Given the description of an element on the screen output the (x, y) to click on. 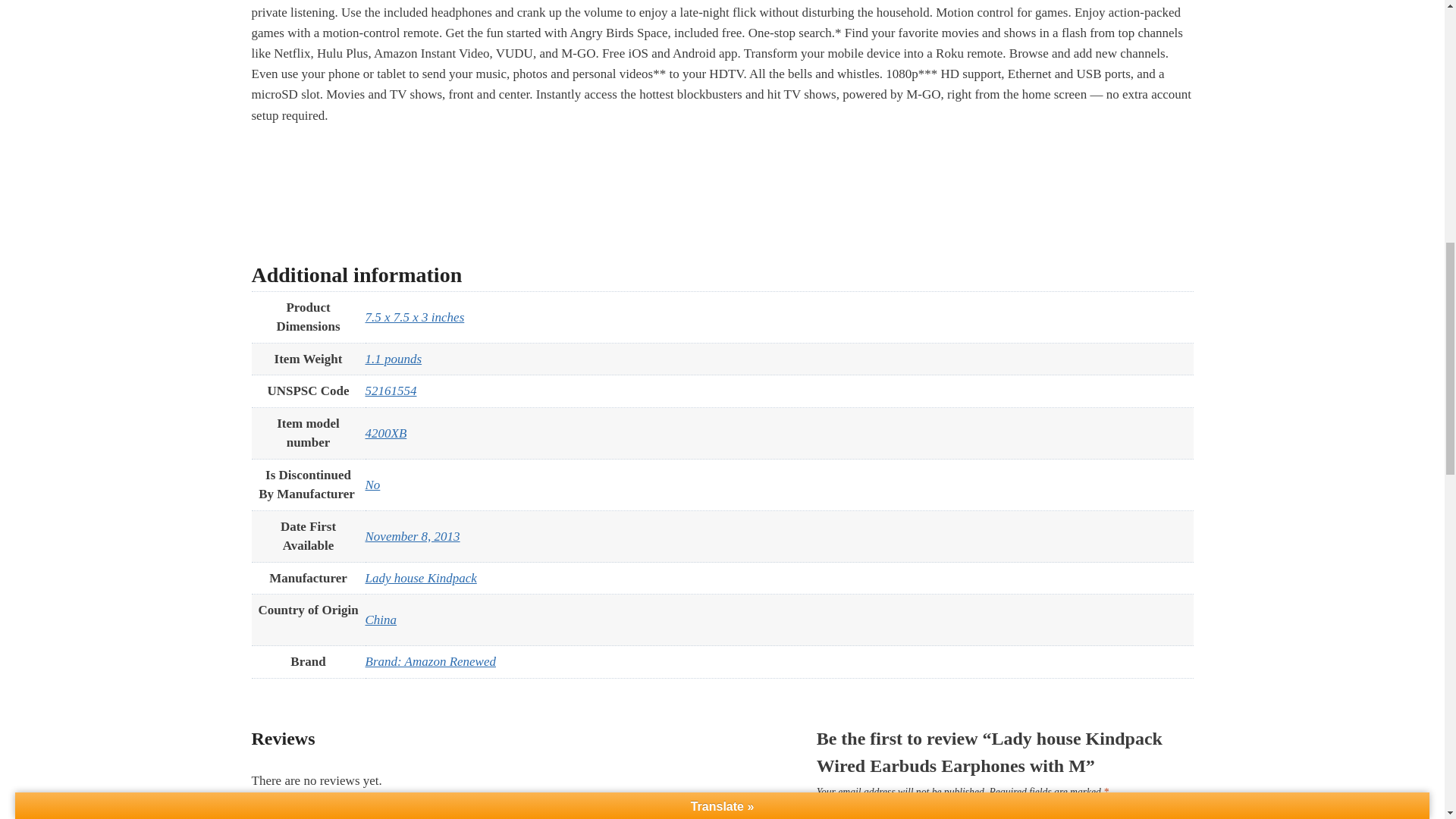
1.1 pounds (393, 359)
7.5 x 7.5 x 3 inches (414, 317)
November 8, 2013 (412, 536)
No (372, 484)
52161554 (390, 391)
4200XB (386, 432)
Lady house Kindpack (421, 577)
